Given the description of an element on the screen output the (x, y) to click on. 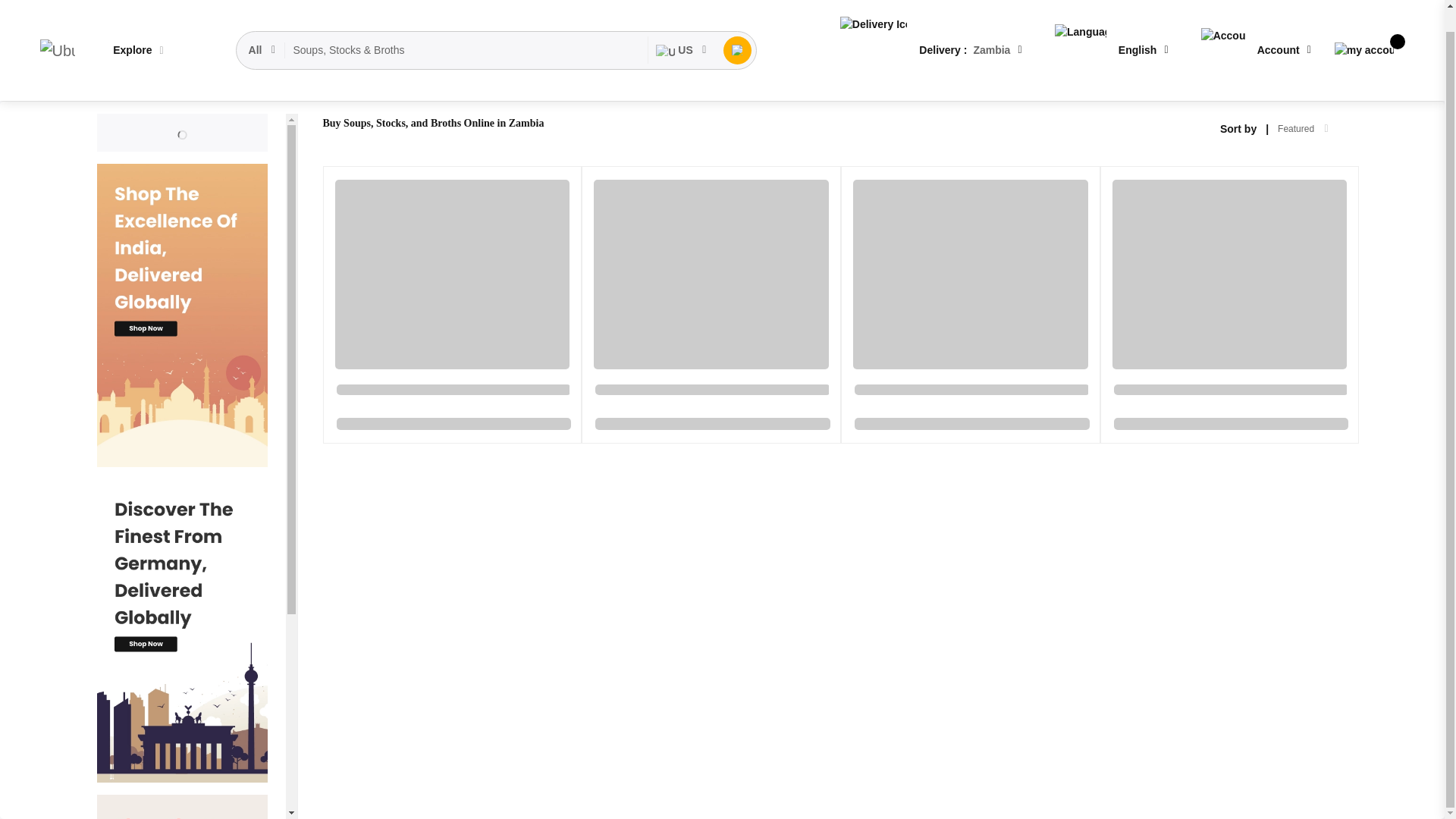
All (263, 28)
Home Page (124, 89)
Home Page (124, 89)
Ubuy (57, 28)
Cart (1364, 27)
US (680, 28)
